Given the description of an element on the screen output the (x, y) to click on. 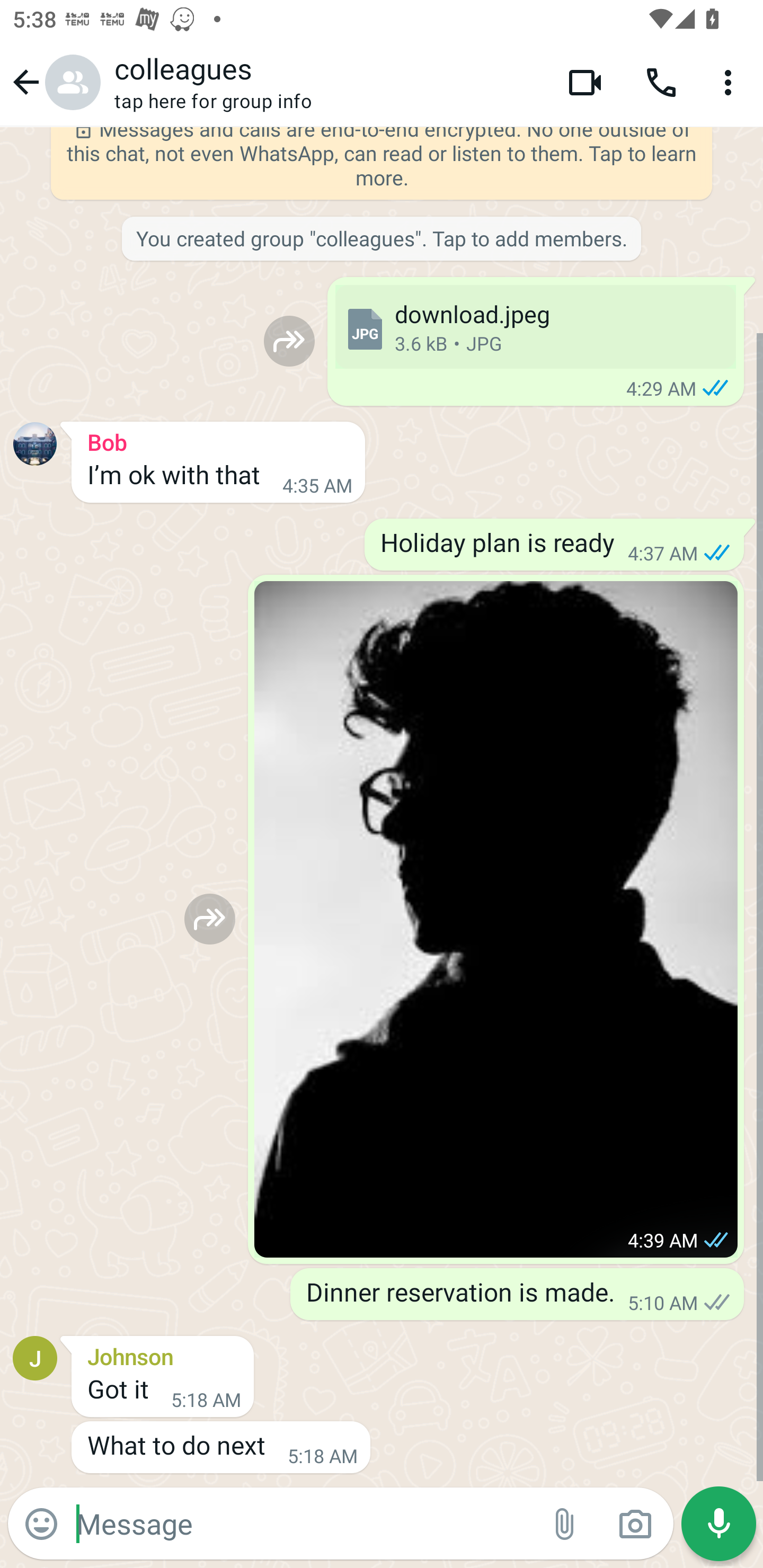
colleagues tap here for group info (327, 82)
Navigate up (54, 82)
Video call (585, 81)
Voice call (661, 81)
More options (731, 81)
download.jpeg 3.6 kB • JPG (535, 326)
Forward to… (288, 340)
Profile picture for Bob (34, 443)
Bob (217, 439)
View photo (495, 919)
Forward to… (209, 918)
Profile picture for Johnson J (34, 1357)
Johnson (162, 1353)
Emoji (41, 1523)
Attach (565, 1523)
Camera (634, 1523)
Message (303, 1523)
